Given the description of an element on the screen output the (x, y) to click on. 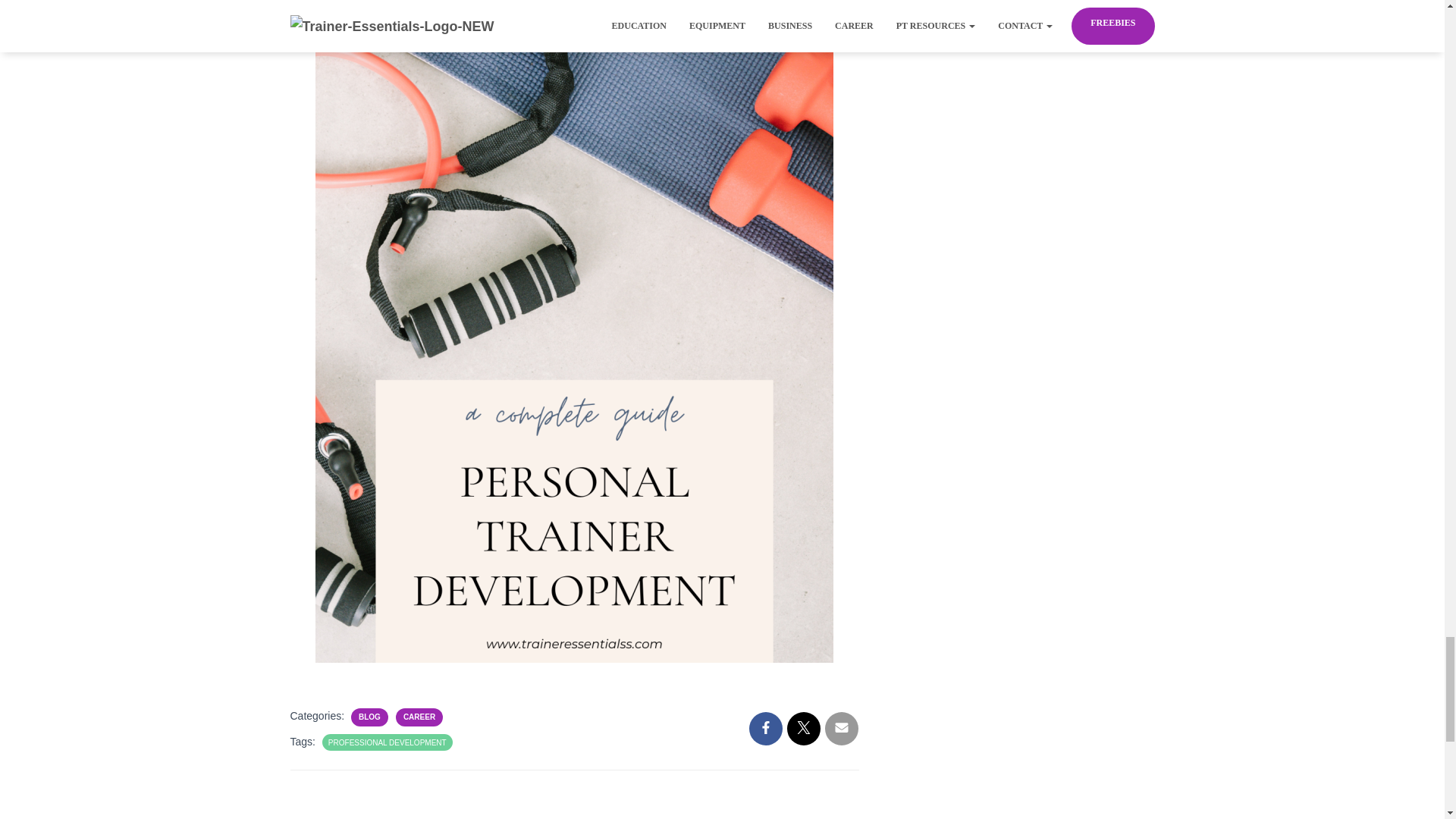
BLOG (369, 717)
PROFESSIONAL DEVELOPMENT (387, 742)
CAREER (419, 717)
